Given the description of an element on the screen output the (x, y) to click on. 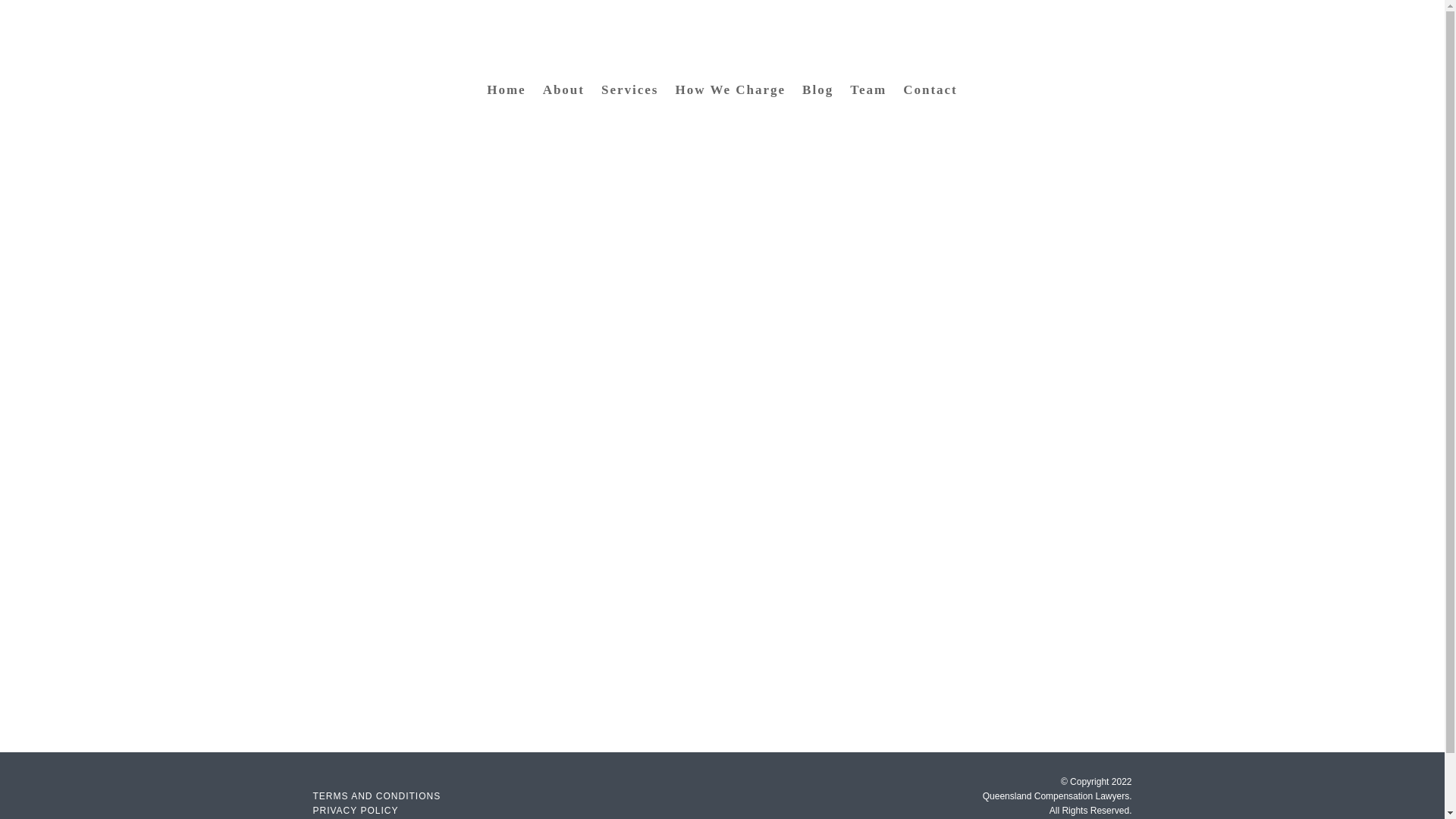
Services (629, 93)
About (564, 93)
Blog (817, 93)
Team (868, 93)
Home (505, 93)
Contact (930, 93)
How We Charge (730, 93)
3309 (789, 55)
